Given the description of an element on the screen output the (x, y) to click on. 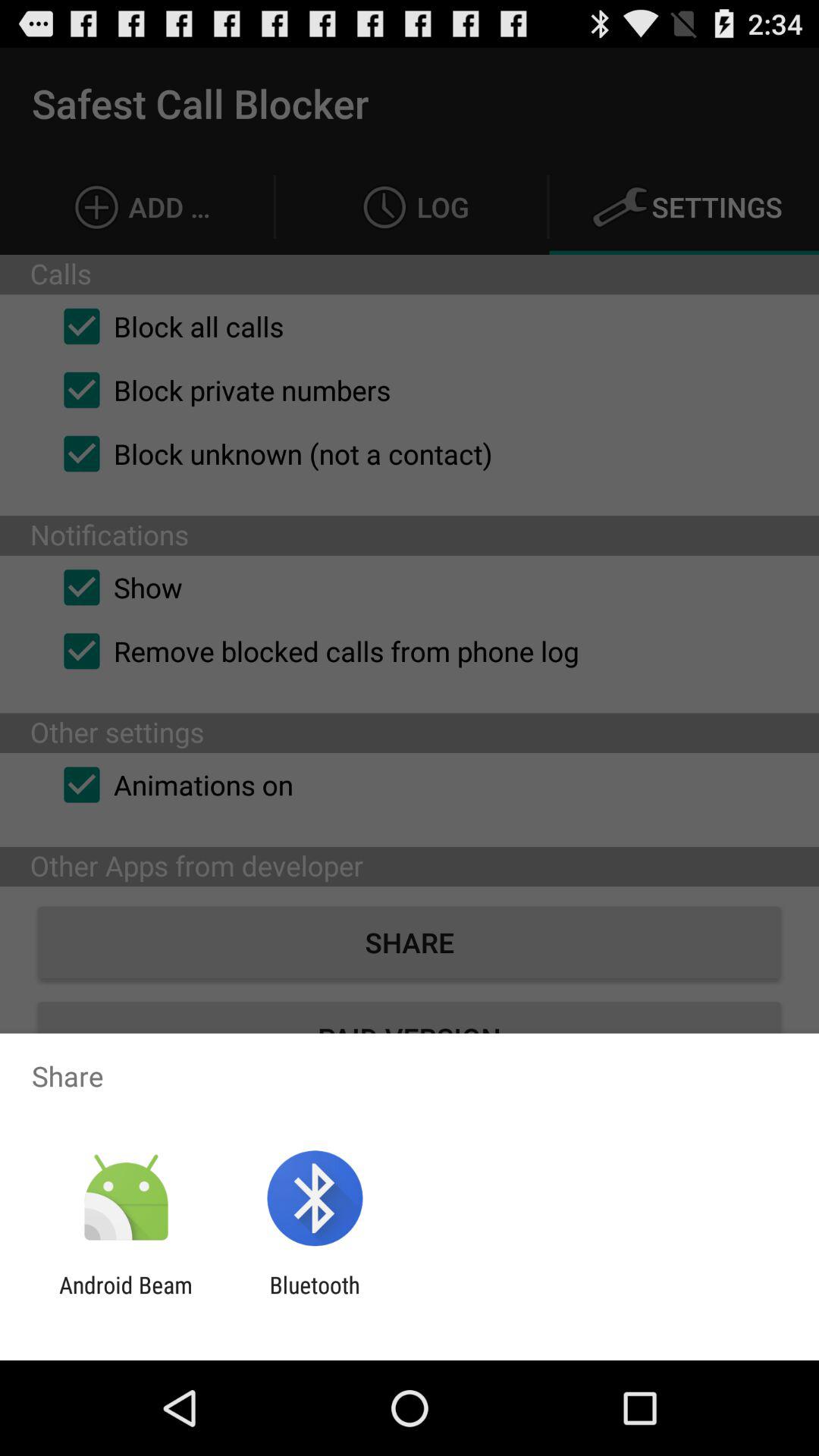
select android beam icon (125, 1298)
